Given the description of an element on the screen output the (x, y) to click on. 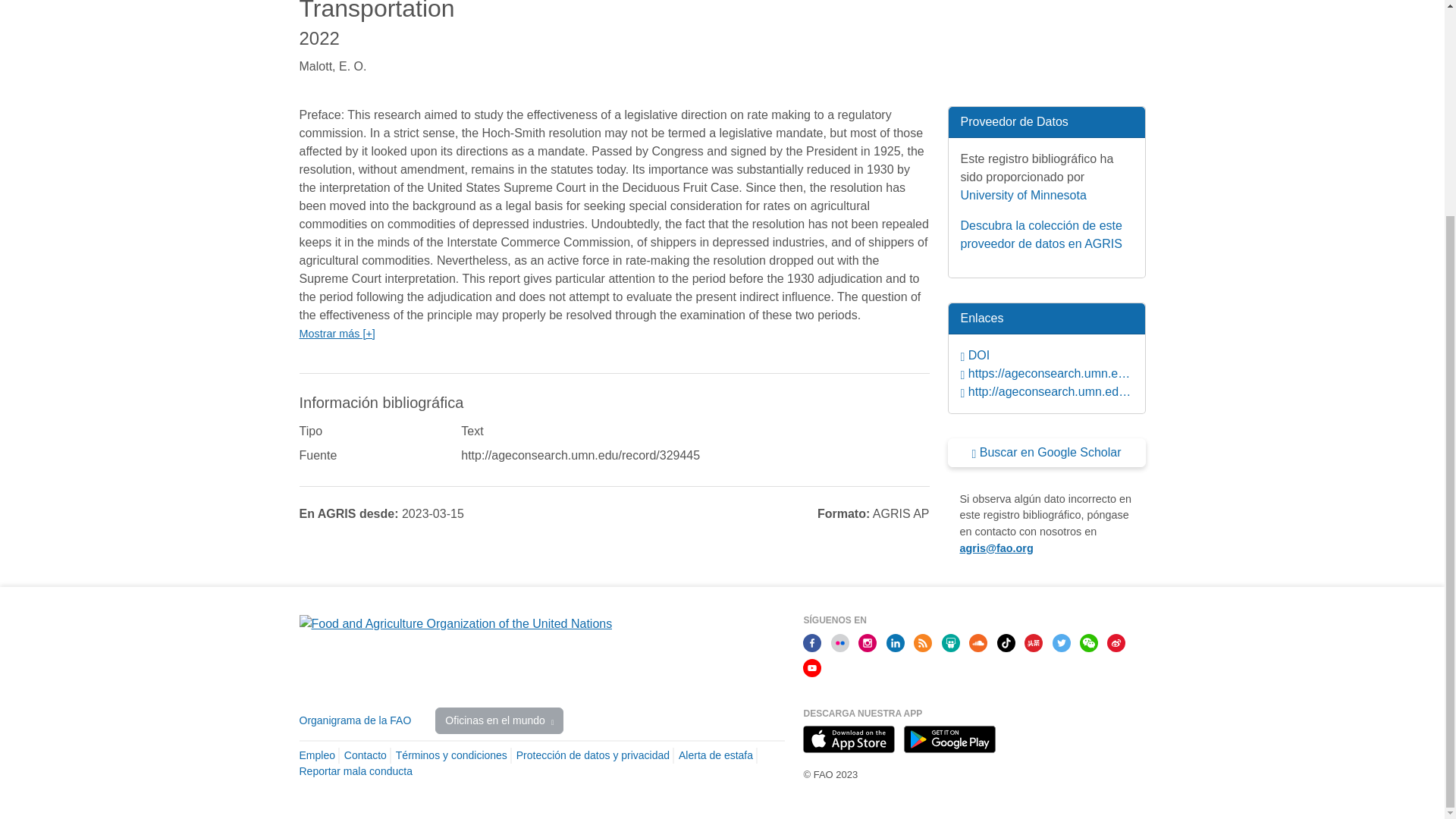
soundcloud (978, 641)
facebook (812, 641)
tuotiao (1033, 641)
Food and Agriculture Organization of the United Nations (454, 624)
tiktok (1005, 641)
rss (922, 641)
DOI (1045, 355)
flickr (839, 641)
youtube (812, 666)
instagram (867, 641)
